Given the description of an element on the screen output the (x, y) to click on. 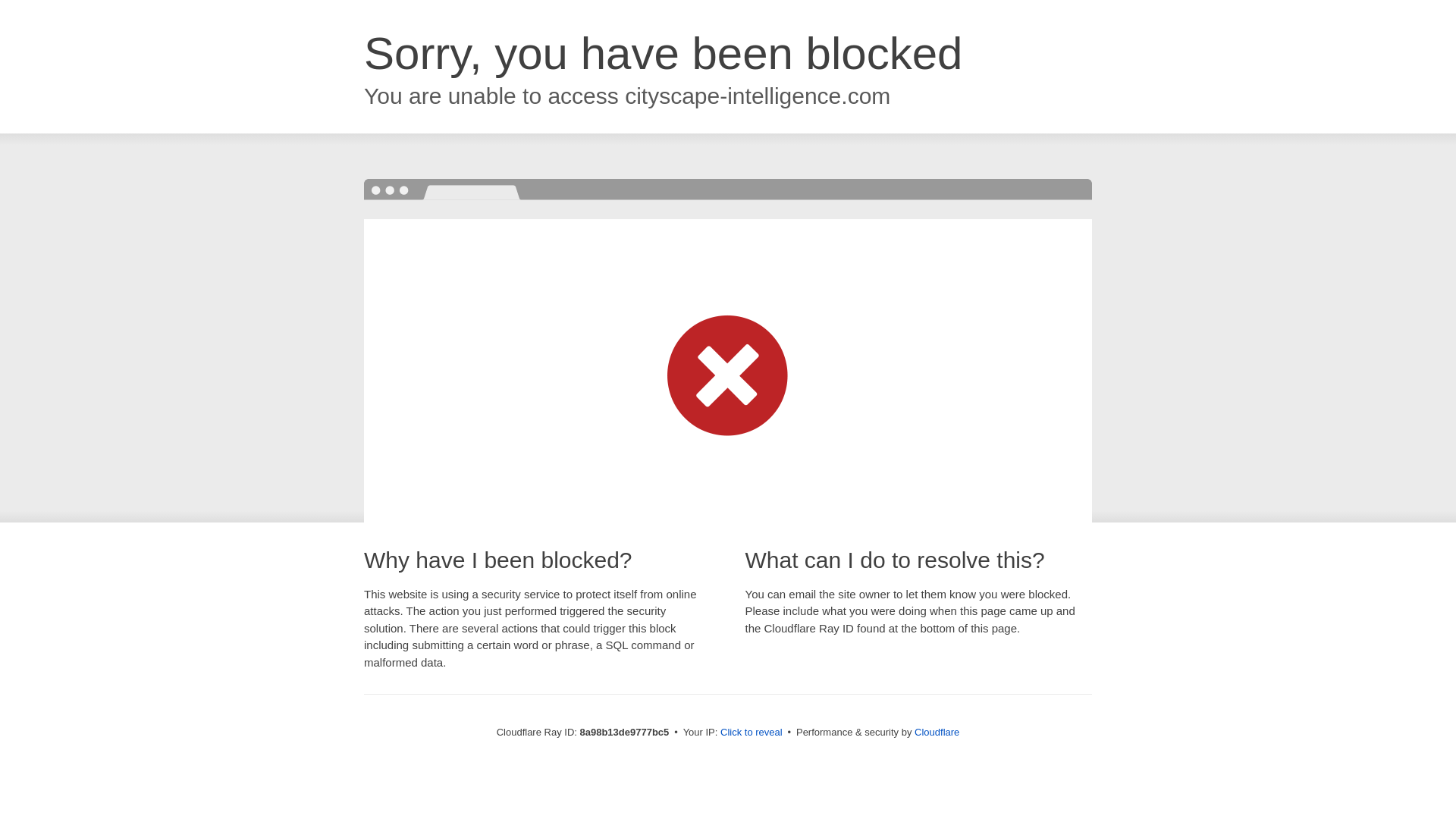
Cloudflare (936, 731)
Click to reveal (751, 732)
